Given the description of an element on the screen output the (x, y) to click on. 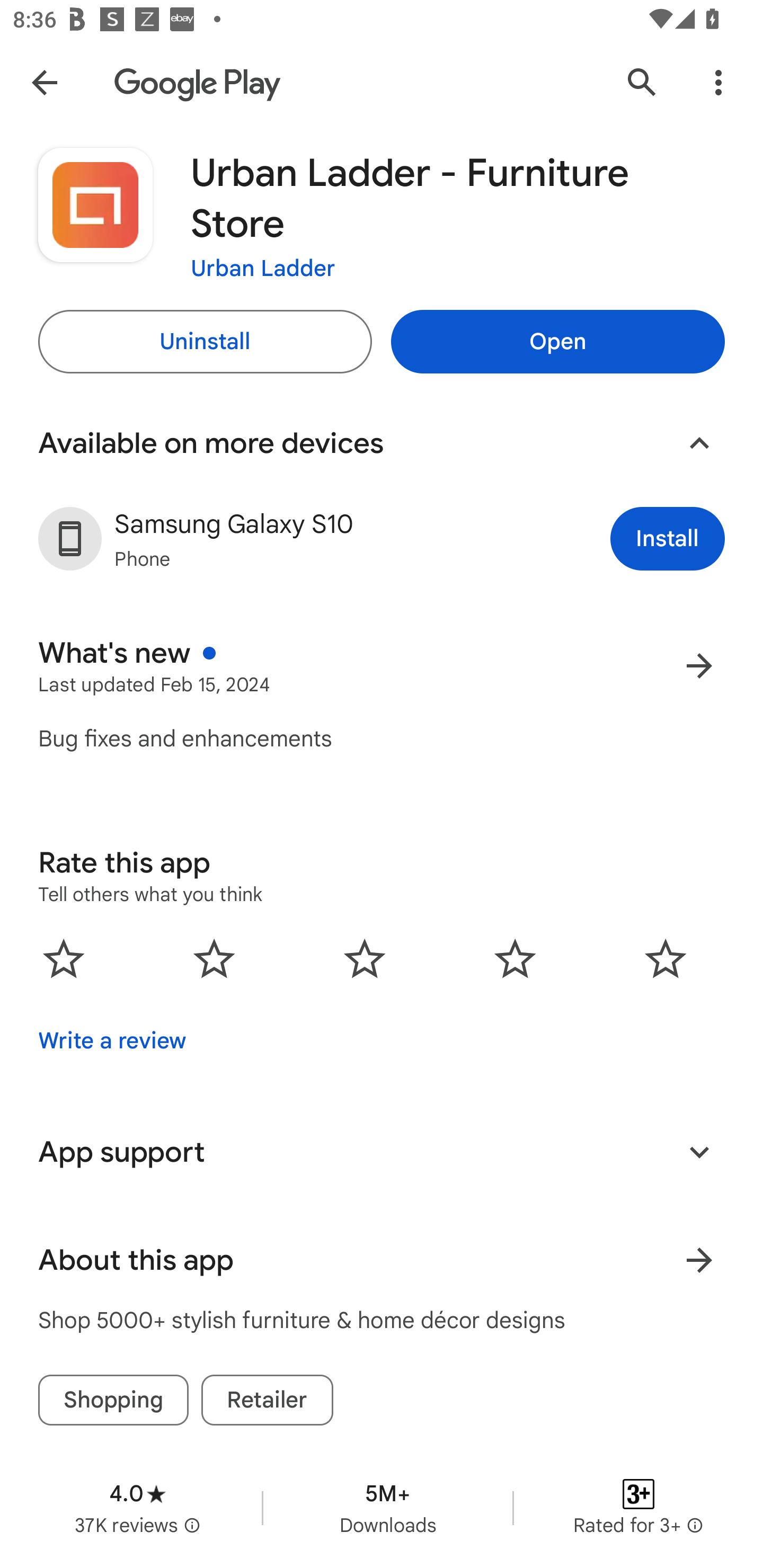
Navigate up (44, 81)
Search Google Play (642, 81)
More Options (718, 81)
Urban Ladder (262, 267)
Uninstall (205, 341)
Open (557, 341)
Available on more devices Collapse (381, 442)
Collapse (699, 442)
Install (667, 538)
More results for What's new (699, 665)
0.0 (364, 957)
Write a review (112, 1040)
App support Expand (381, 1151)
Expand (699, 1151)
About this app Learn more About this app (381, 1259)
Learn more About this app (699, 1259)
Shopping tag (113, 1399)
Retailer tag (267, 1399)
Average rating 4.0 stars in 37 thousand reviews (137, 1507)
Content rating Rated for 3+ (638, 1507)
